Given the description of an element on the screen output the (x, y) to click on. 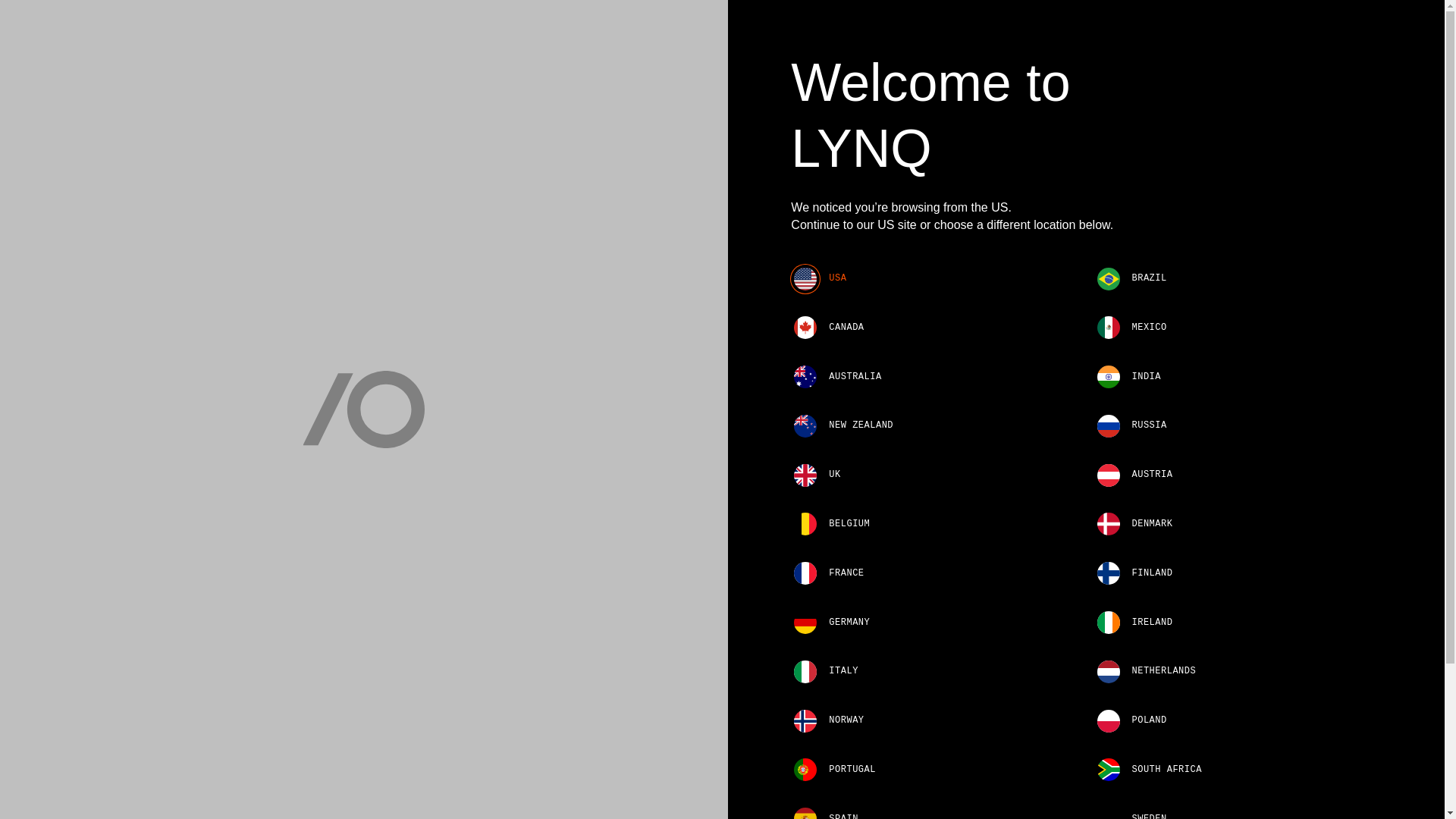
Customer Stories (667, 38)
Solution (559, 38)
Company (771, 38)
